Given the description of an element on the screen output the (x, y) to click on. 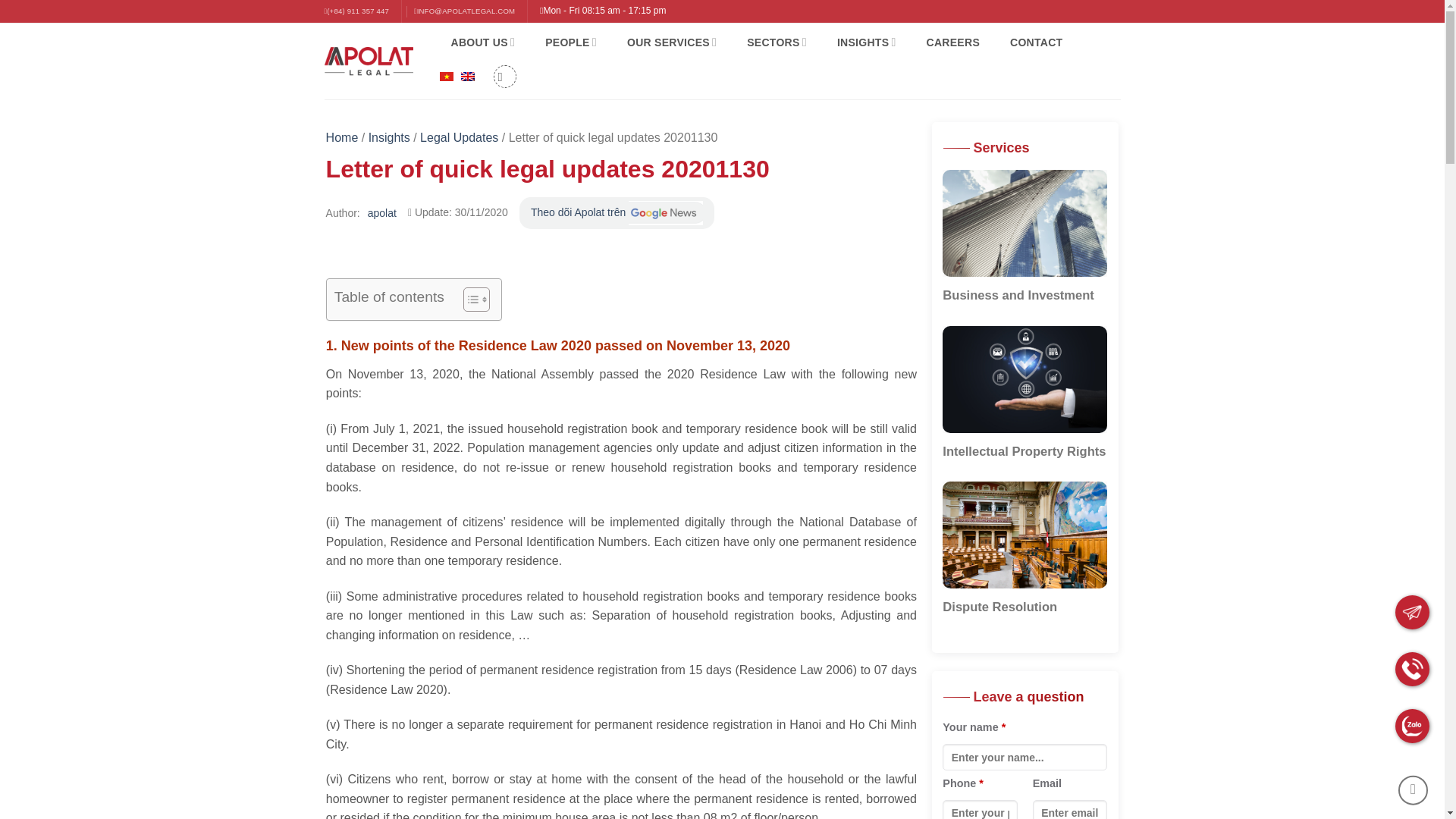
OUR SERVICES (671, 41)
SECTORS (776, 41)
Apolat Legal (368, 61)
ABOUT US (482, 41)
PEOPLE (570, 41)
